Given the description of an element on the screen output the (x, y) to click on. 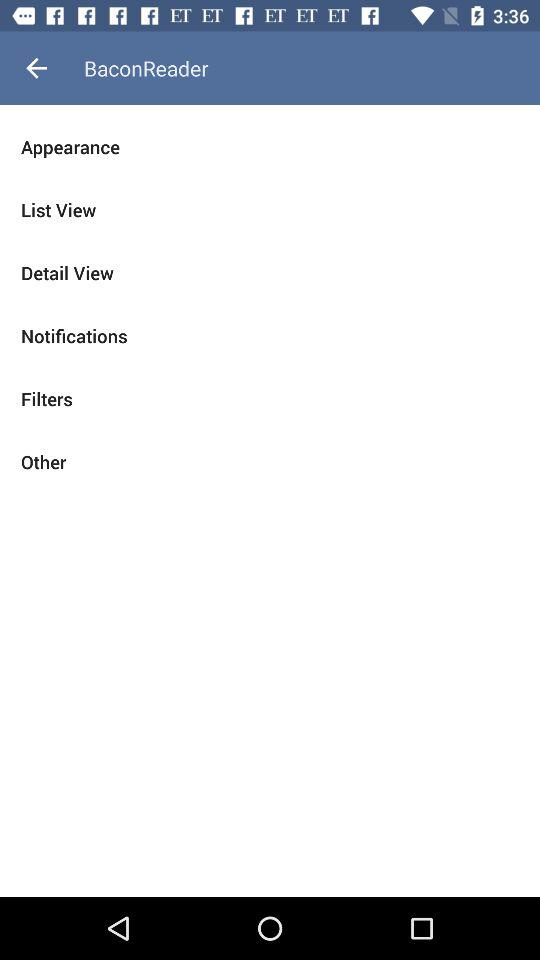
launch item above notifications item (270, 272)
